Given the description of an element on the screen output the (x, y) to click on. 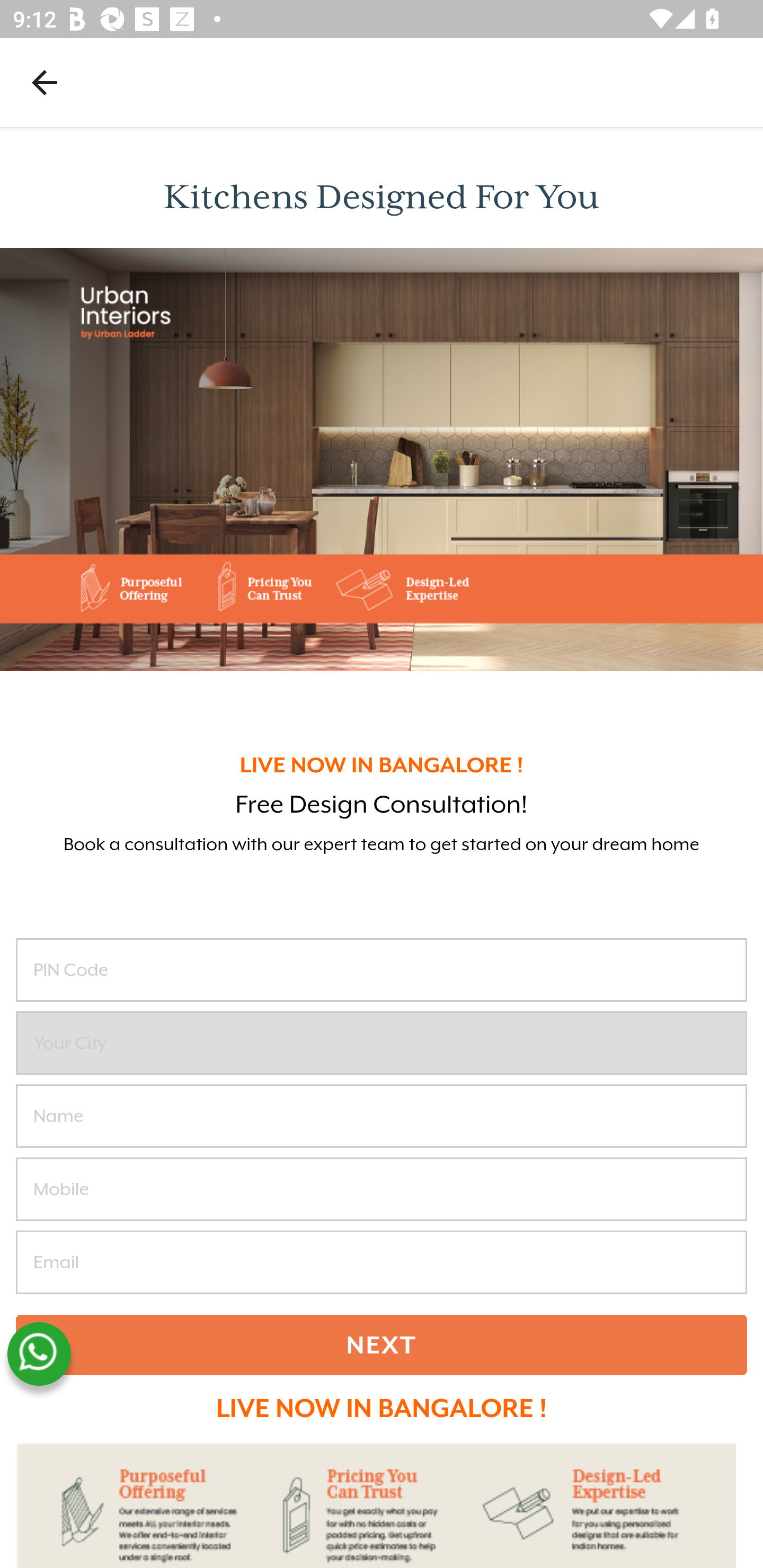
Navigate up (44, 82)
Next (381, 1344)
whatsapp (38, 1353)
